Given the description of an element on the screen output the (x, y) to click on. 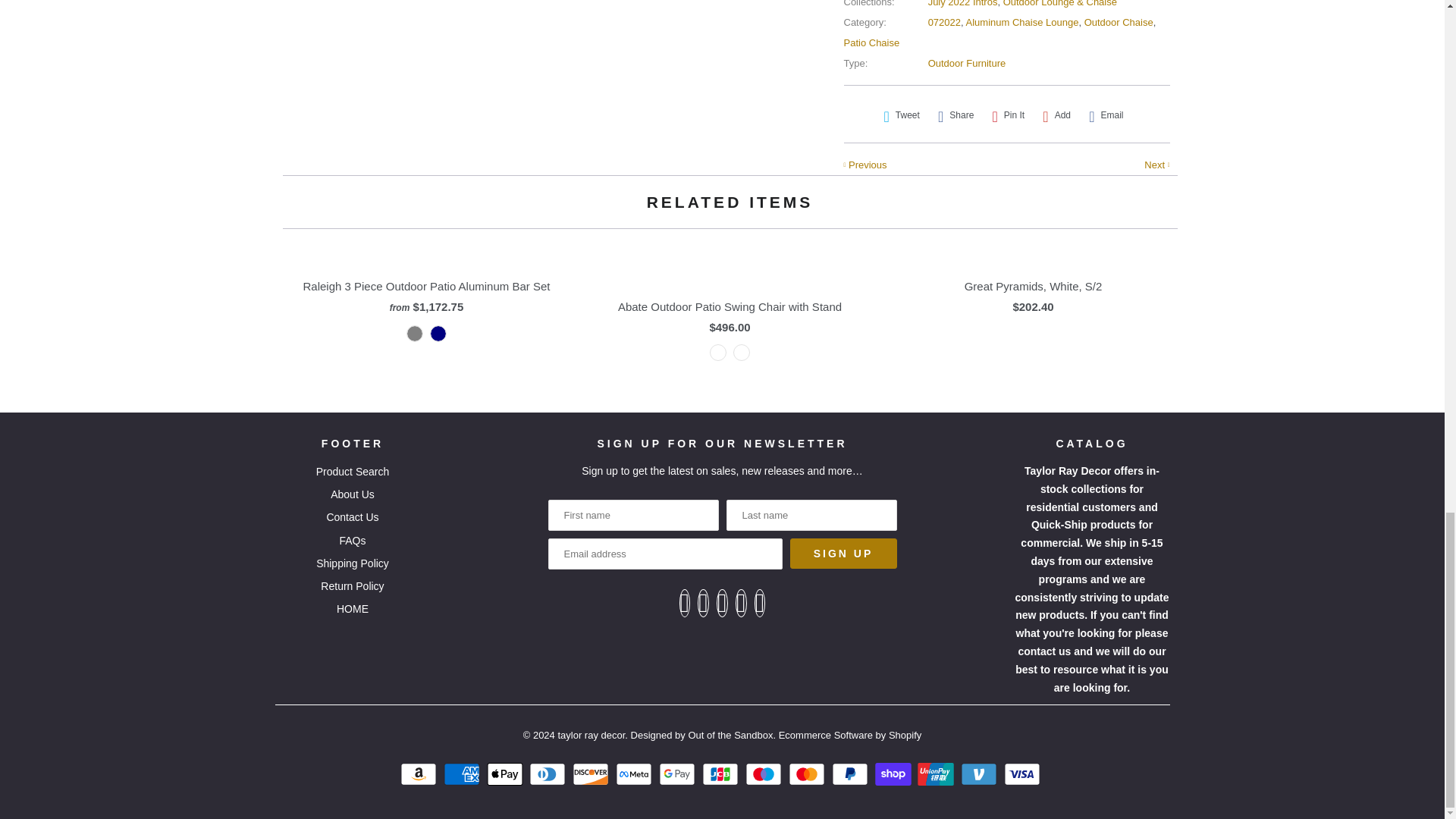
PayPal (851, 773)
Amazon (420, 773)
Sign Up (843, 553)
Apple Pay (506, 773)
Diners Club (549, 773)
Maestro (765, 773)
Discover (592, 773)
American Express (463, 773)
JCB (721, 773)
Google Pay (678, 773)
